Given the description of an element on the screen output the (x, y) to click on. 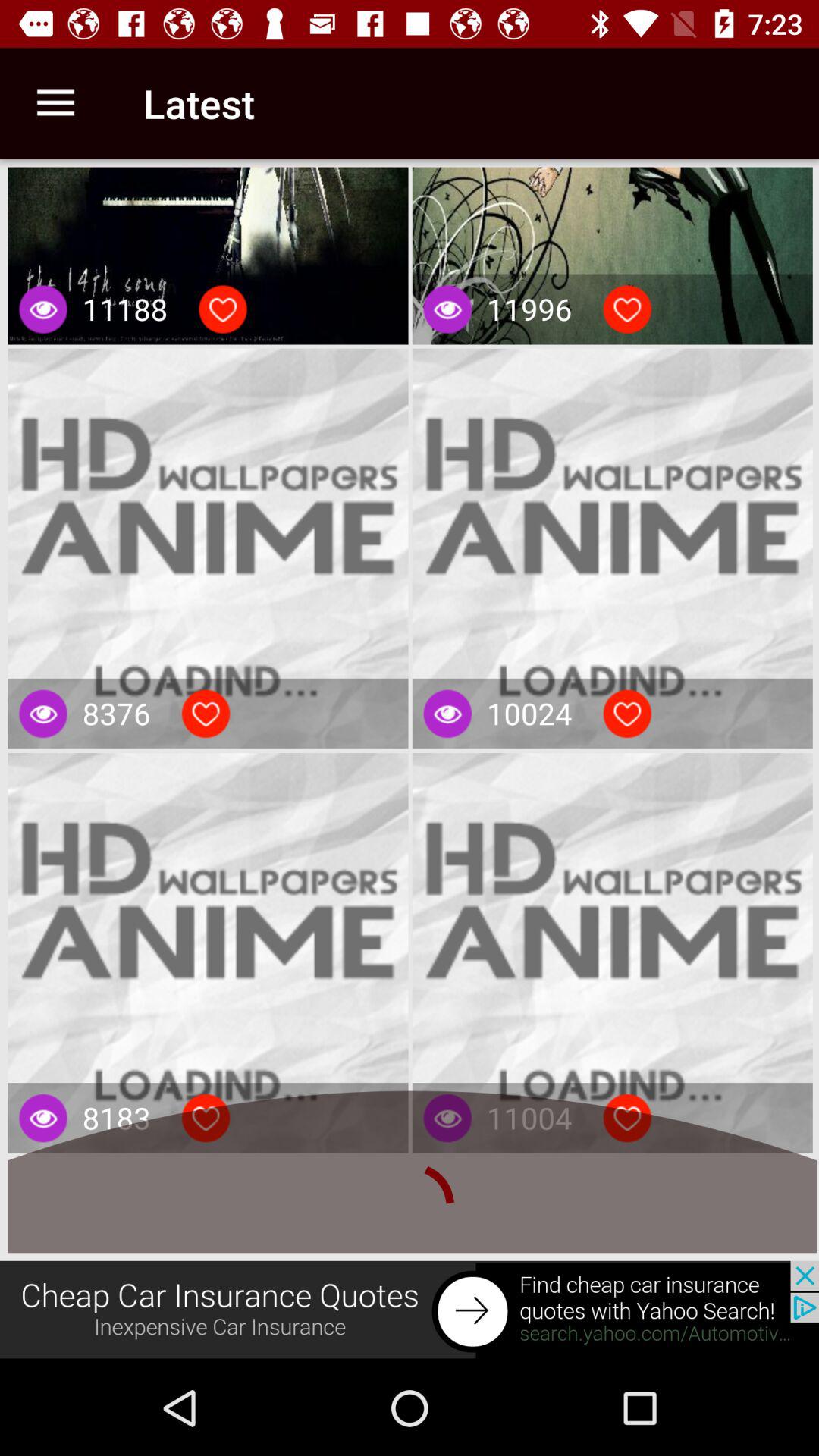
like (205, 1118)
